Given the description of an element on the screen output the (x, y) to click on. 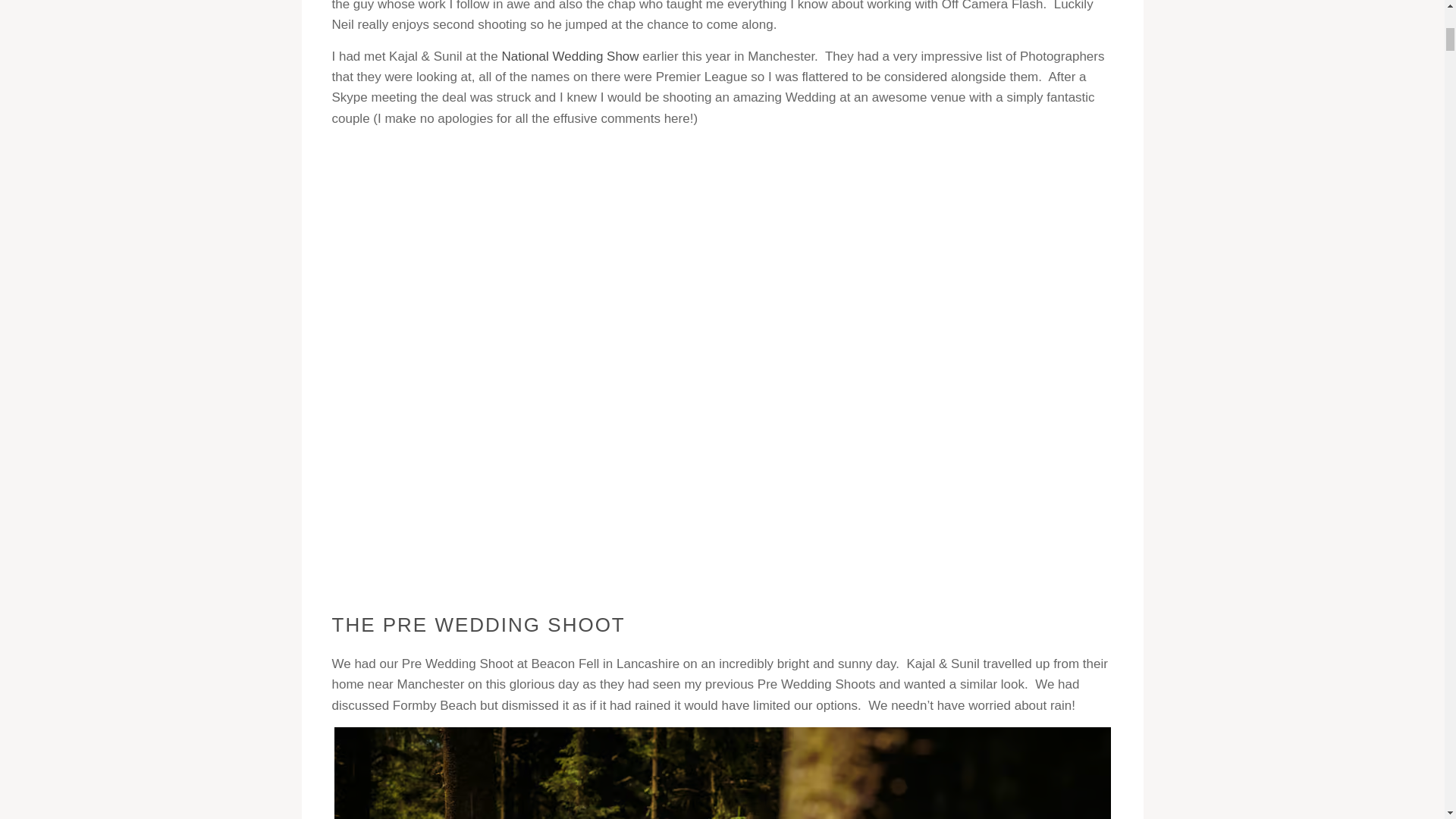
National Wedding Show (569, 56)
